Given the description of an element on the screen output the (x, y) to click on. 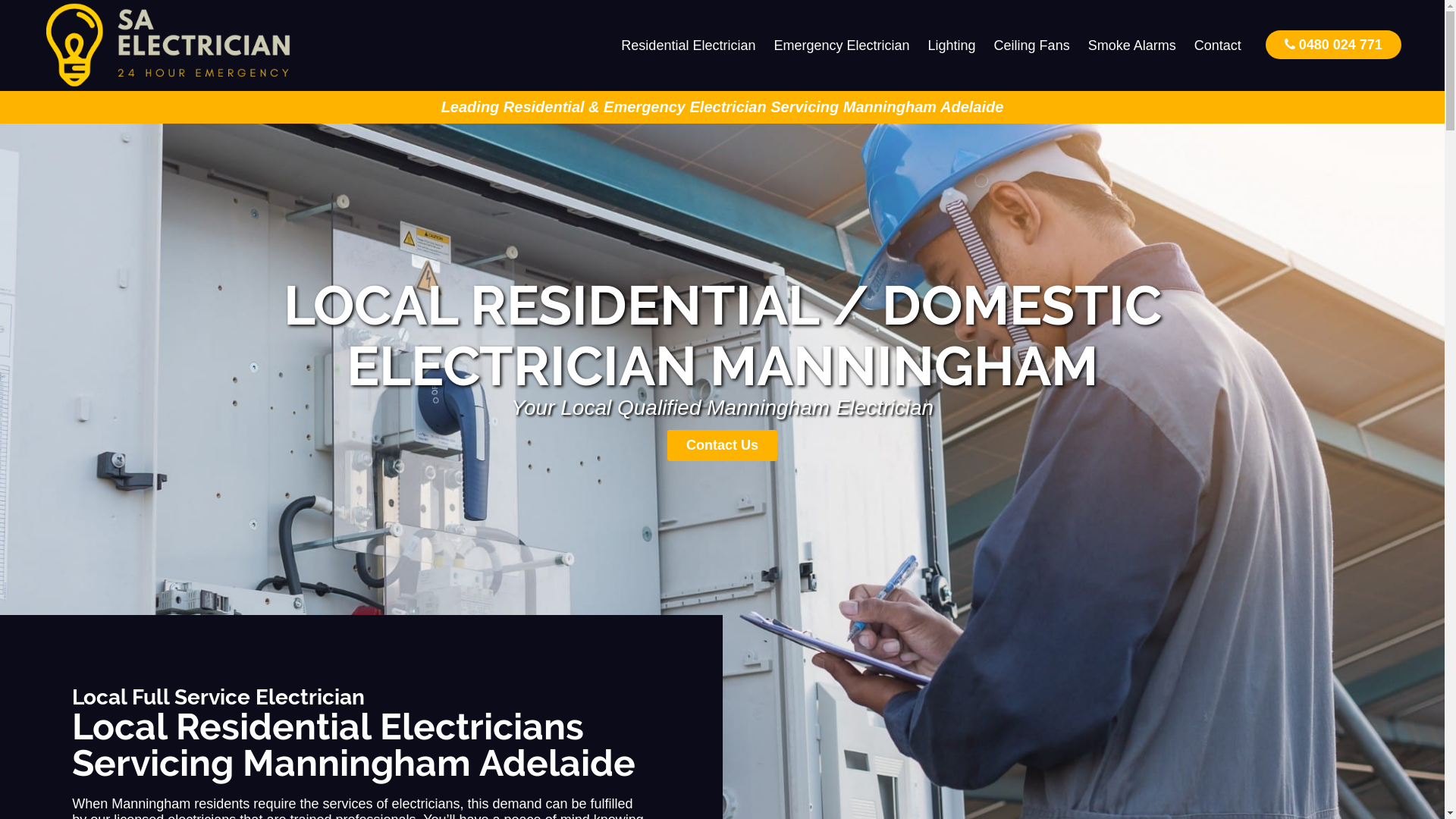
Emergency Electrician Element type: text (841, 45)
Ceiling Fans Element type: text (1032, 45)
Smoke Alarms Element type: text (1132, 45)
Residential Electrician Element type: text (687, 45)
0480 024 771 Element type: text (1333, 44)
Contact Element type: text (1217, 45)
Contact Us Element type: text (722, 445)
Lighting Element type: text (952, 45)
